Given the description of an element on the screen output the (x, y) to click on. 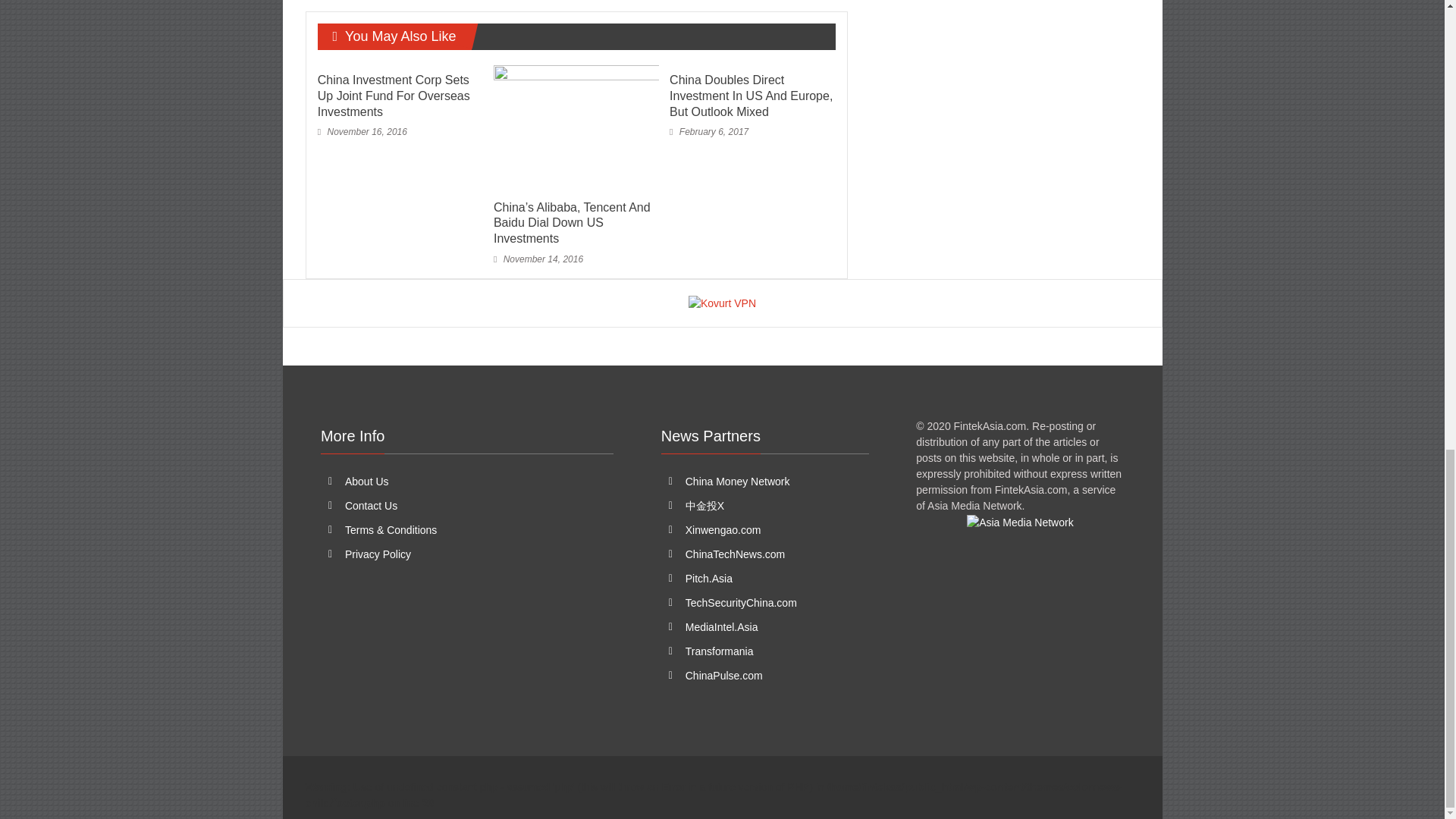
10:22 am (538, 258)
Contact Us (371, 505)
November 16, 2016 (362, 131)
Privacy Policy (377, 553)
February 6, 2017 (708, 131)
About Us (366, 481)
5:33 pm (362, 131)
China Money Network (737, 481)
November 14, 2016 (538, 258)
11:42 am (708, 131)
